Given the description of an element on the screen output the (x, y) to click on. 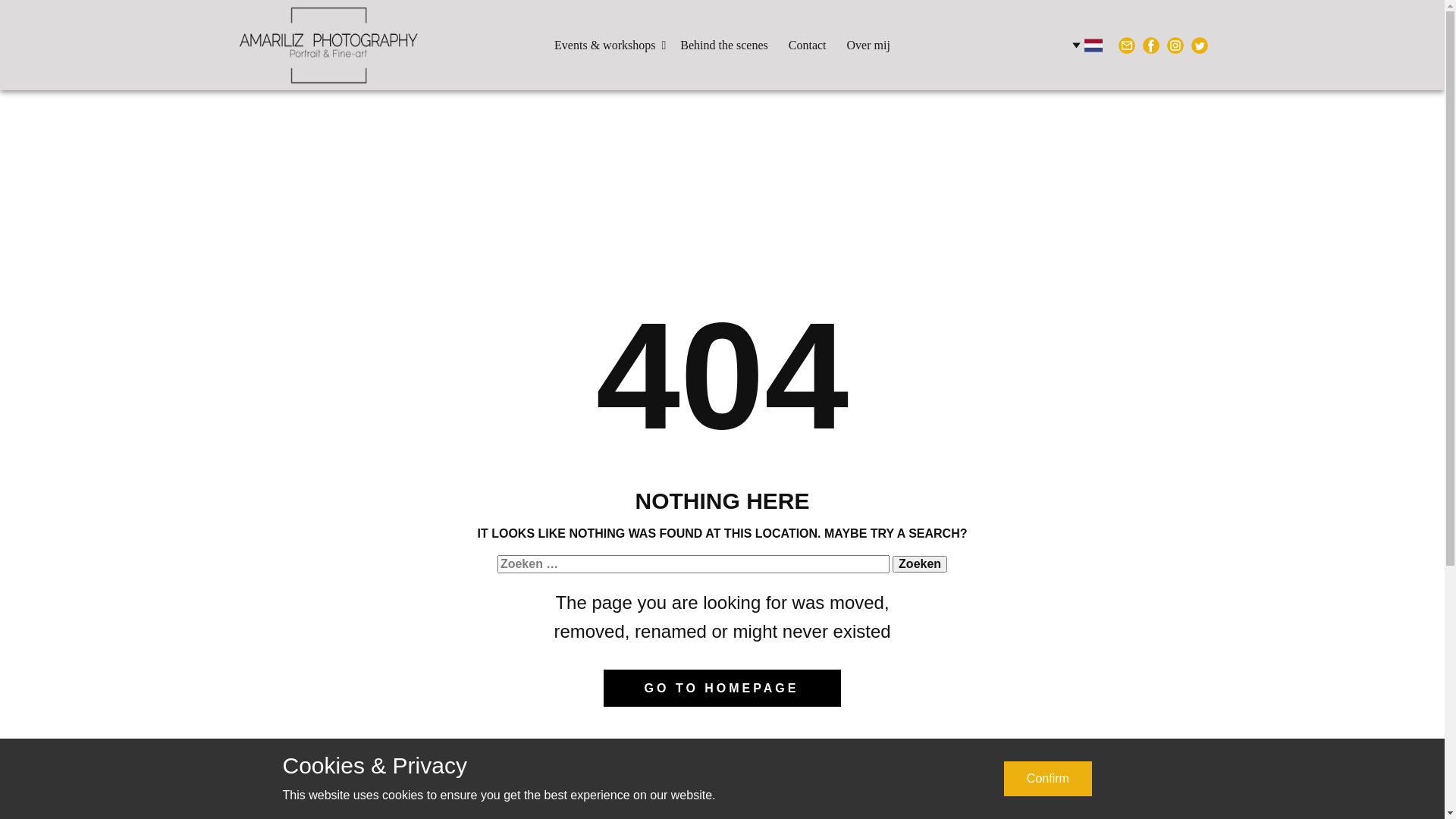
Home Element type: hover (327, 45)
Over mij Element type: text (868, 45)
Zoeken Element type: text (919, 563)
Events & workshops Element type: text (606, 45)
Behind the scenes Element type: text (723, 45)
GO TO HOMEPAGE Element type: text (722, 688)
Email Element type: hover (1125, 45)
Contact Element type: text (807, 45)
instagram Element type: hover (1174, 45)
twitter Element type: hover (1198, 45)
facebook Element type: hover (1150, 45)
Confirm Element type: text (1048, 778)
